Given the description of an element on the screen output the (x, y) to click on. 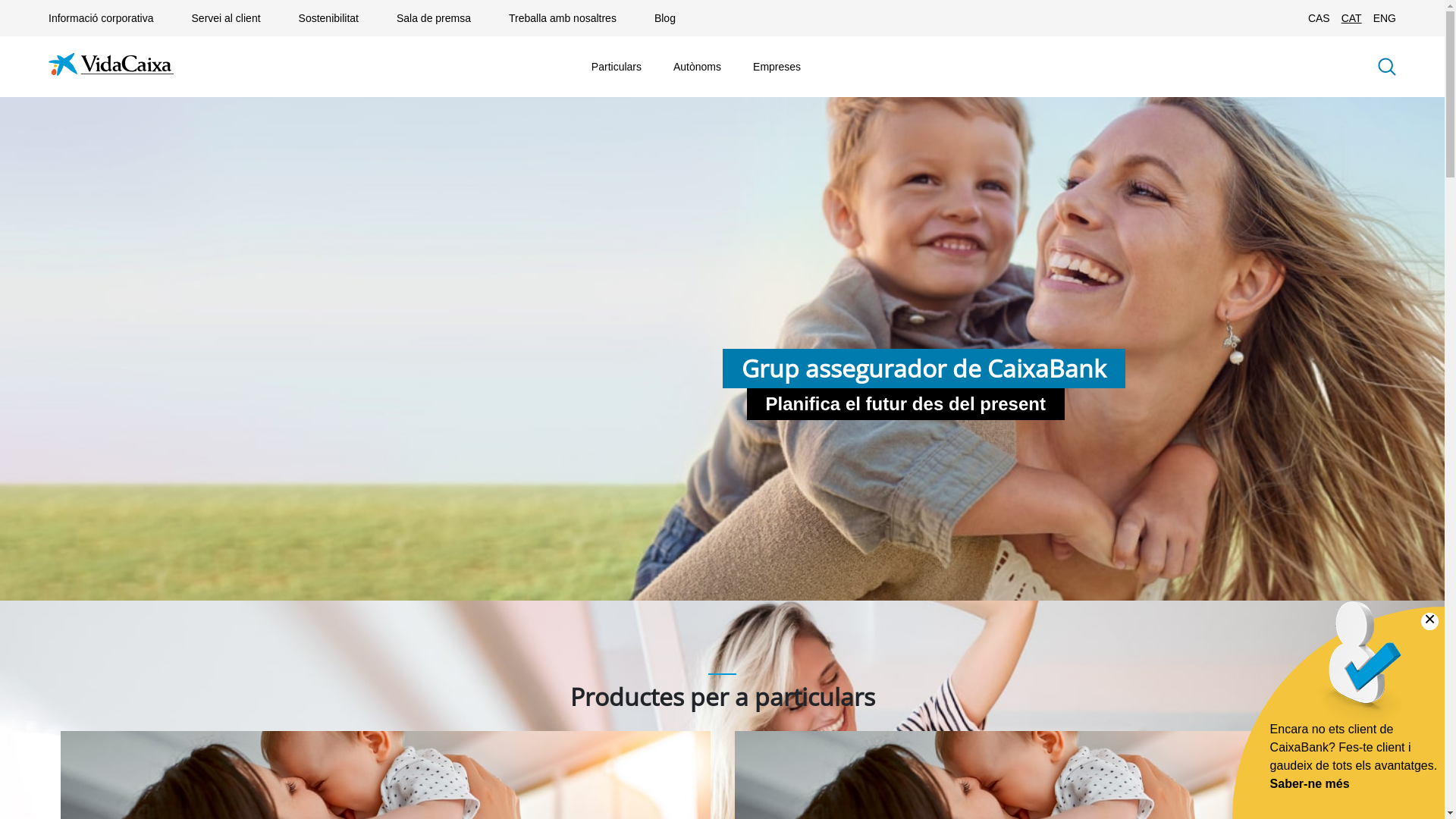
Treballa amb nosaltres Element type: text (562, 18)
Blog Element type: text (664, 18)
Empreses Element type: text (776, 66)
CAS Element type: text (1319, 18)
CAT Element type: text (1351, 18)
Sostenibilitat Element type: text (328, 18)
Particulars Element type: text (616, 66)
Sala de premsa Element type: text (433, 18)
ENG Element type: text (1384, 18)
Servei al client Element type: text (225, 18)
